Given the description of an element on the screen output the (x, y) to click on. 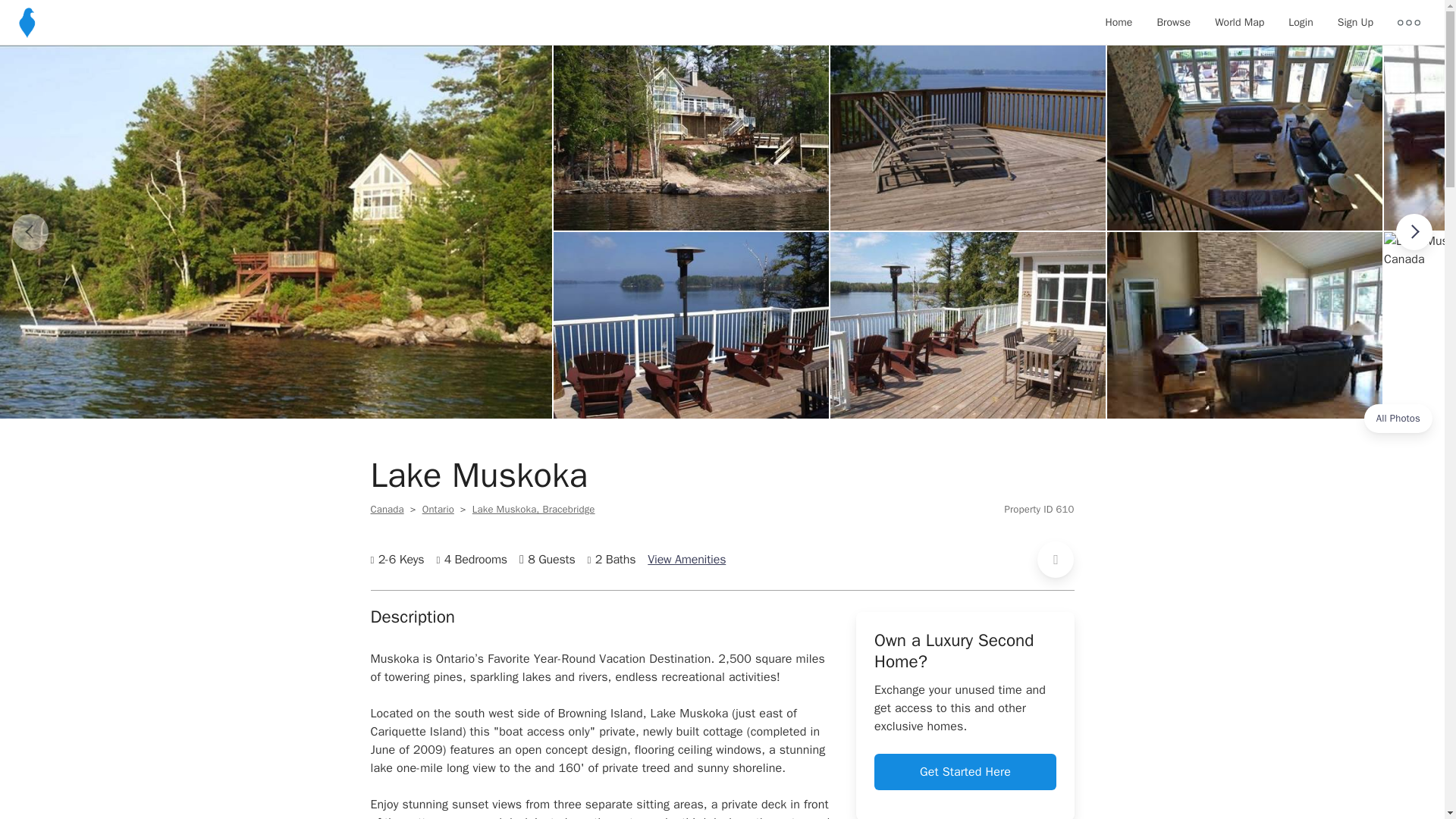
Lake Muskoka, Bracebridge (533, 508)
World Map (1239, 22)
All Photos (1398, 418)
Login (1300, 22)
Canada (386, 508)
View Amenities (686, 559)
Get Started Here (964, 771)
Browse (1173, 22)
Home (1118, 22)
Ontario (438, 508)
